Given the description of an element on the screen output the (x, y) to click on. 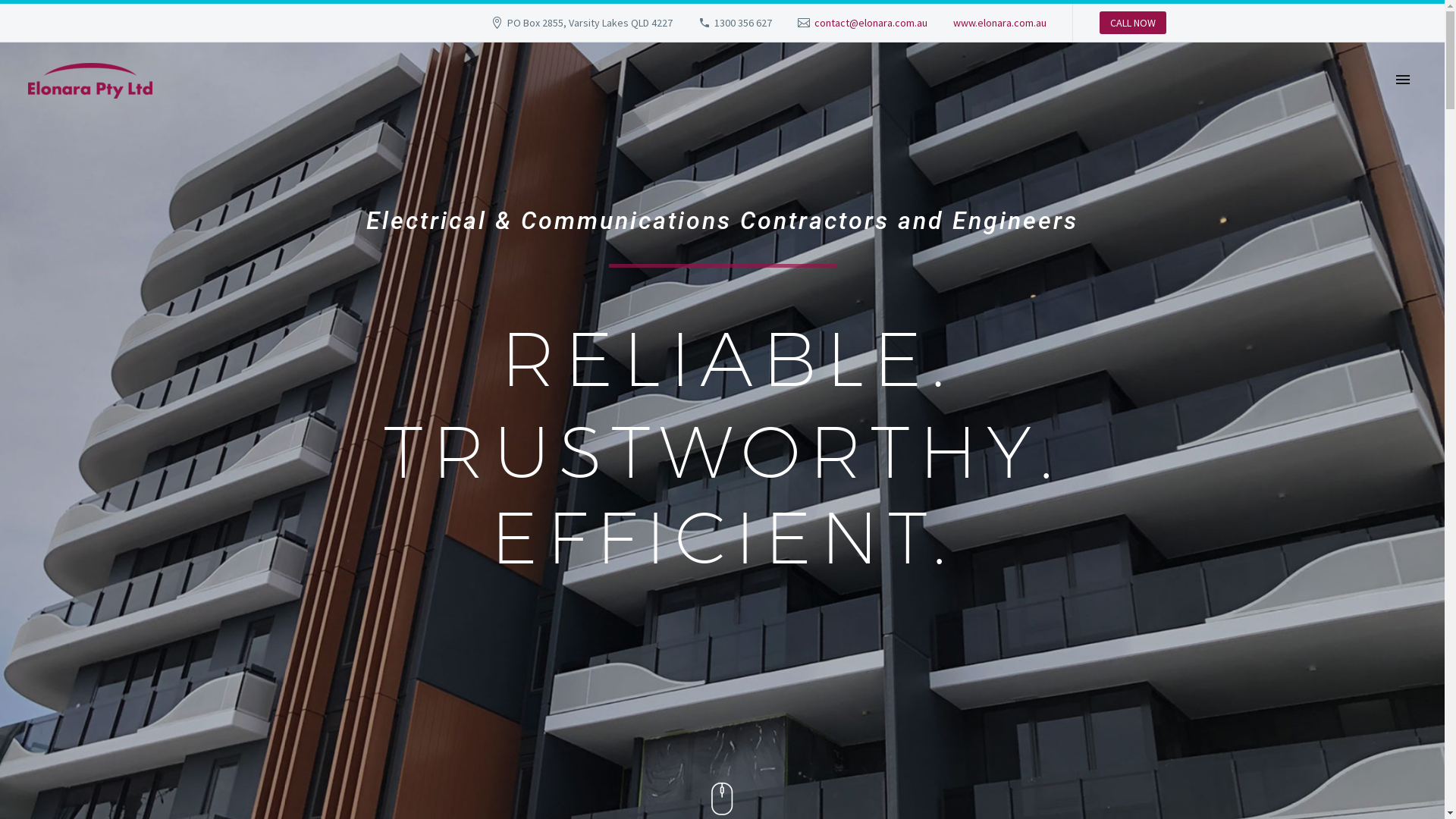
CALL NOW Element type: text (1132, 22)
www.elonara.com.au Element type: text (998, 22)
1300 356 627 Element type: text (742, 22)
contact@elonara.com.au Element type: text (870, 22)
Primary Menu Element type: text (1402, 80)
